Given the description of an element on the screen output the (x, y) to click on. 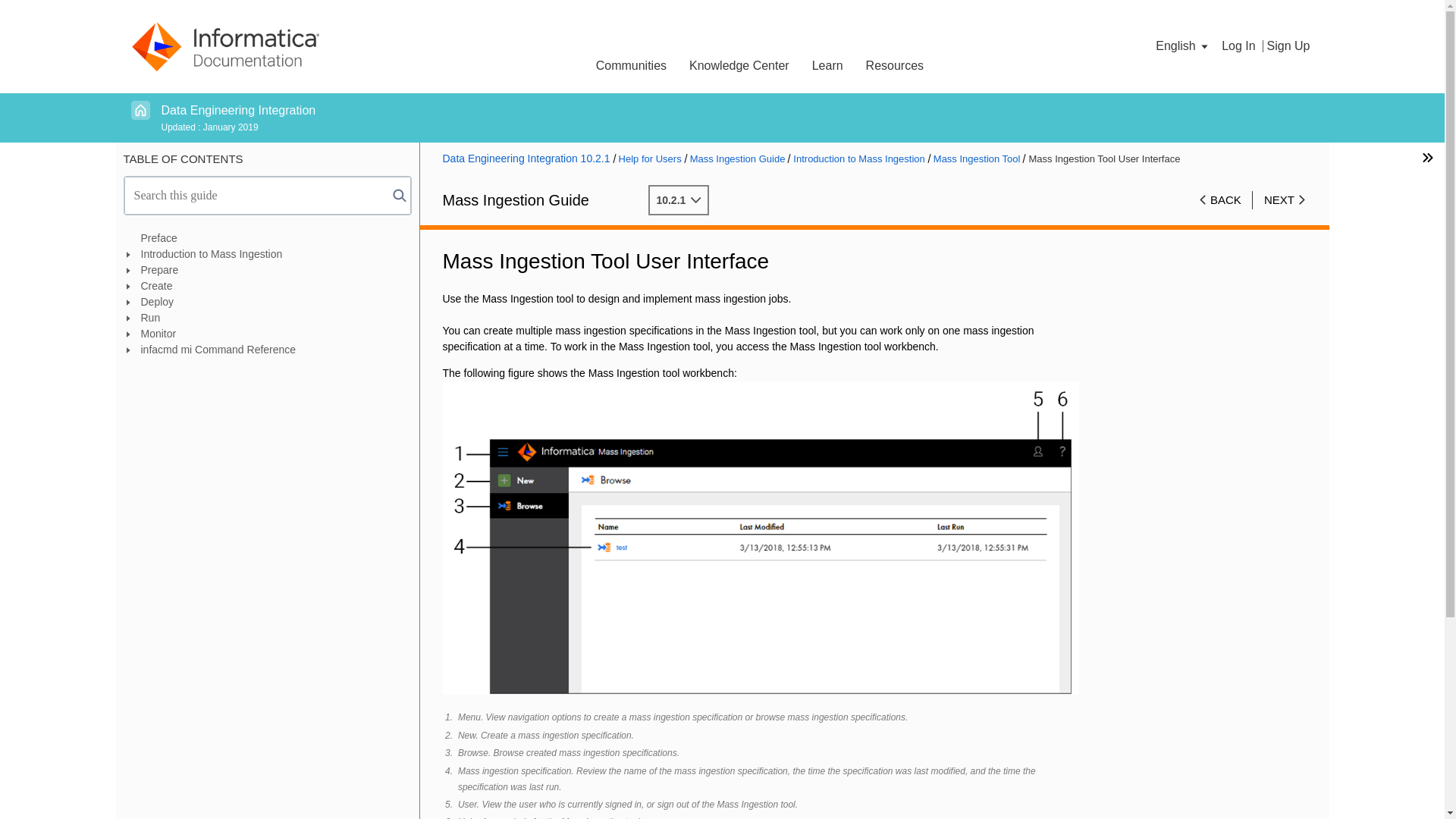
Communities (631, 64)
Knowledge Center (739, 64)
Learn (827, 64)
Introduction to Mass Ingestion (270, 254)
Data Engineering Integration (237, 110)
Preface (270, 238)
Informatica Documentation Portal (225, 46)
Open the latest product version page. (237, 110)
Home (140, 109)
Resources (894, 64)
Sign Up (1288, 45)
